Given the description of an element on the screen output the (x, y) to click on. 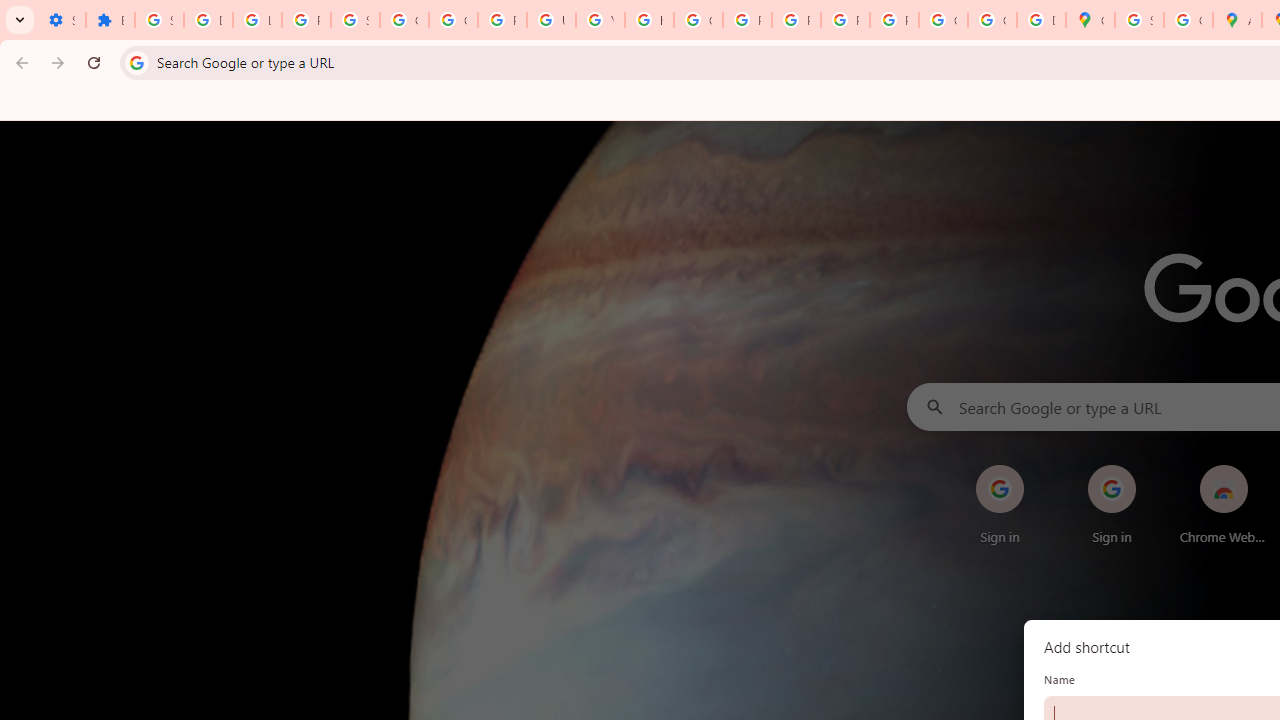
Create your Google Account (1188, 20)
Sign in - Google Accounts (159, 20)
Privacy Help Center - Policies Help (747, 20)
YouTube (600, 20)
Learn how to find your photos - Google Photos Help (257, 20)
Sign in - Google Accounts (1138, 20)
Sign in - Google Accounts (355, 20)
